Given the description of an element on the screen output the (x, y) to click on. 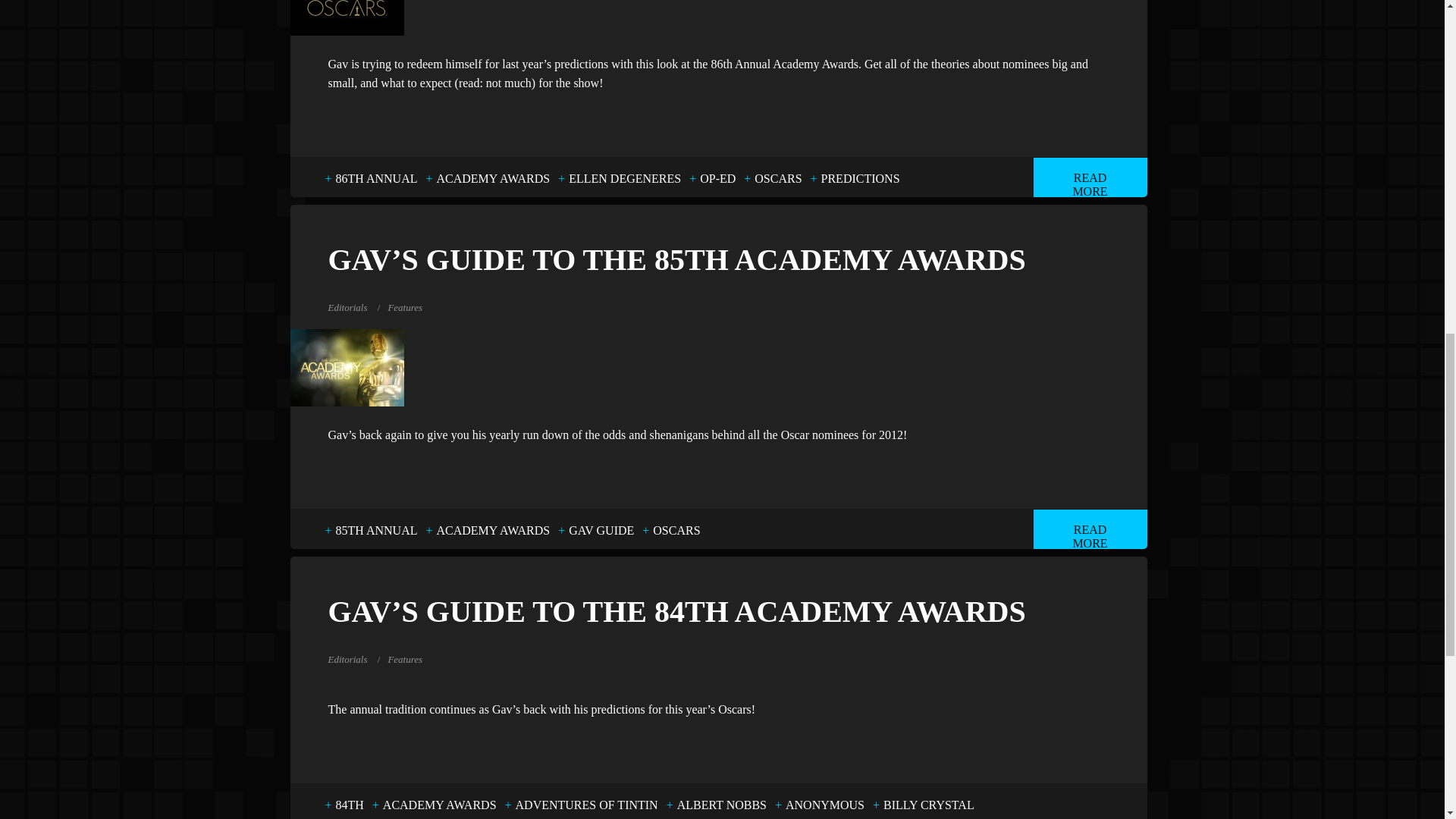
ELLEN DEGENERES (624, 178)
86TH ANNUAL (376, 178)
ACADEMY AWARDS (493, 178)
